Given the description of an element on the screen output the (x, y) to click on. 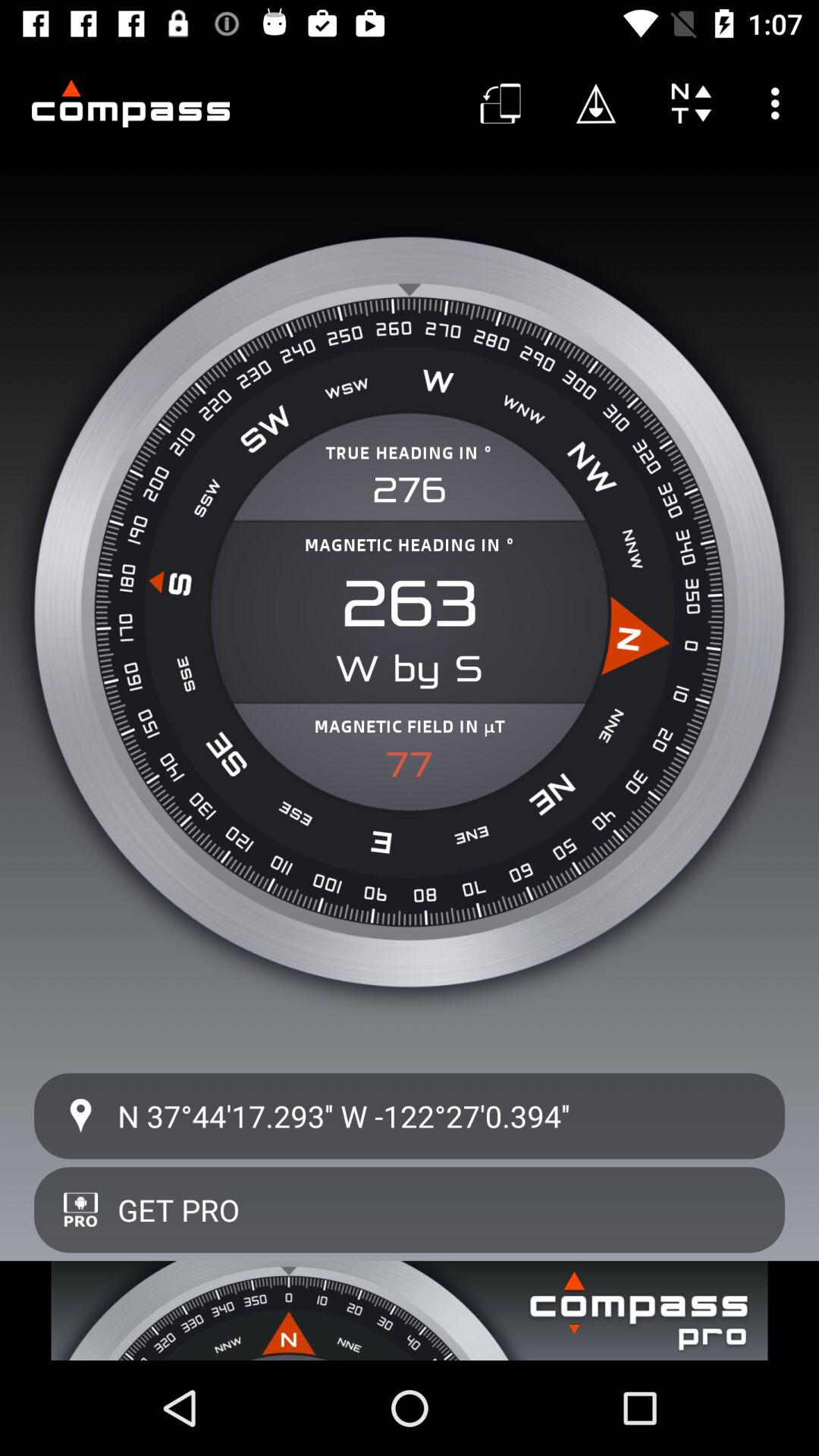
flip to the 78 item (409, 764)
